Given the description of an element on the screen output the (x, y) to click on. 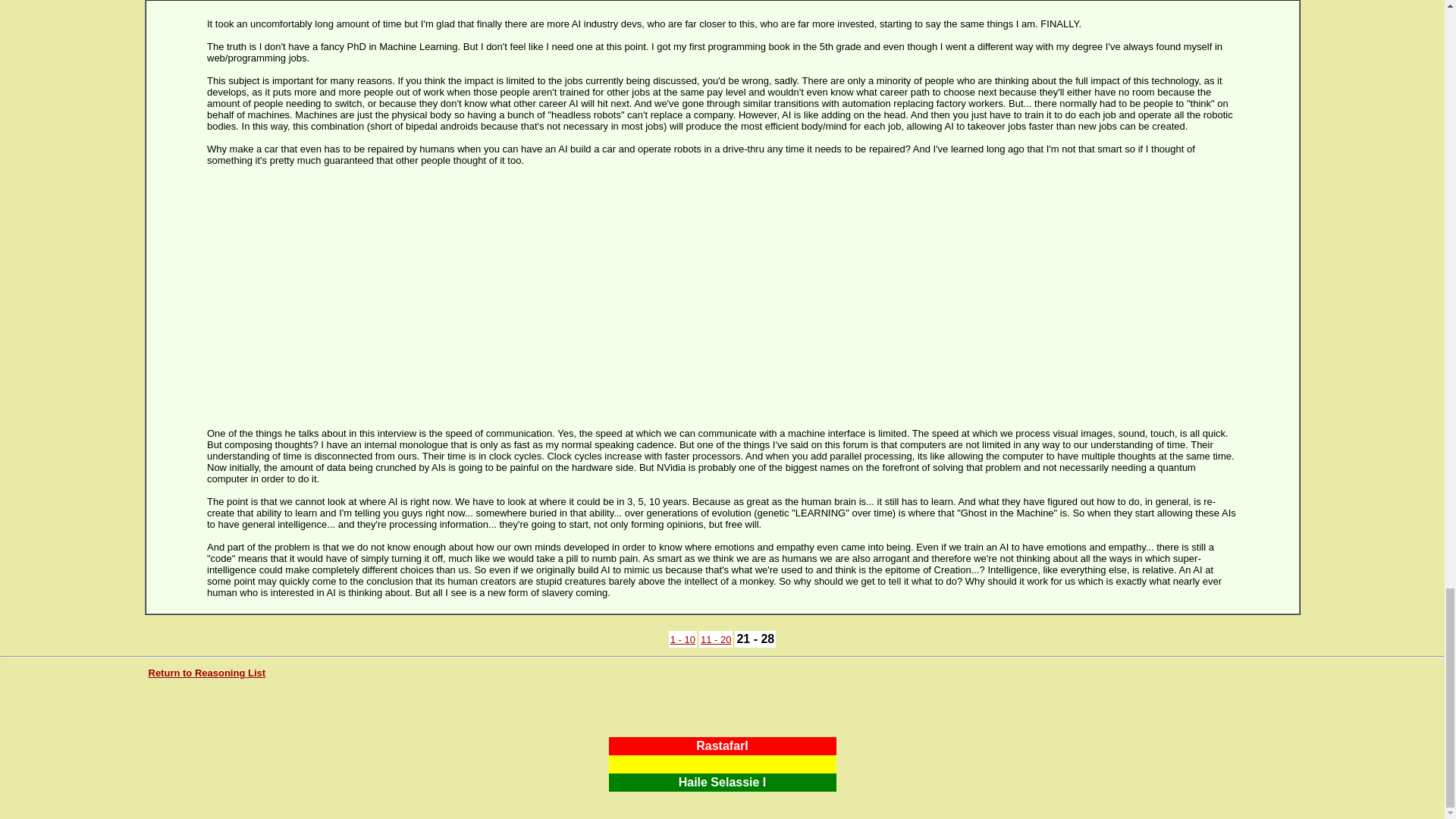
Return to Reasoning List (207, 672)
11 - 20 (715, 638)
1 - 10 (682, 638)
